Given the description of an element on the screen output the (x, y) to click on. 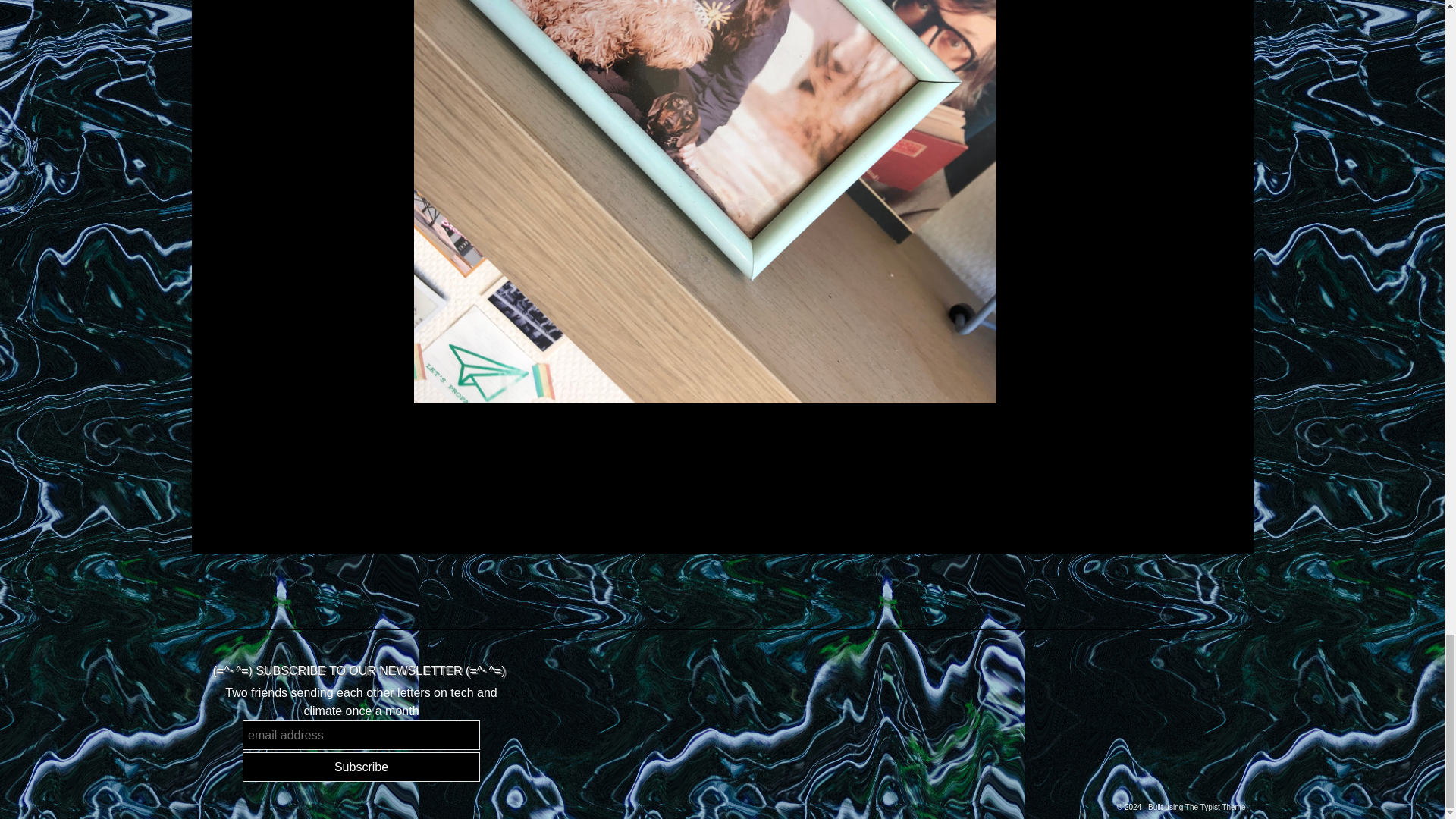
Subscribe (361, 767)
